Given the description of an element on the screen output the (x, y) to click on. 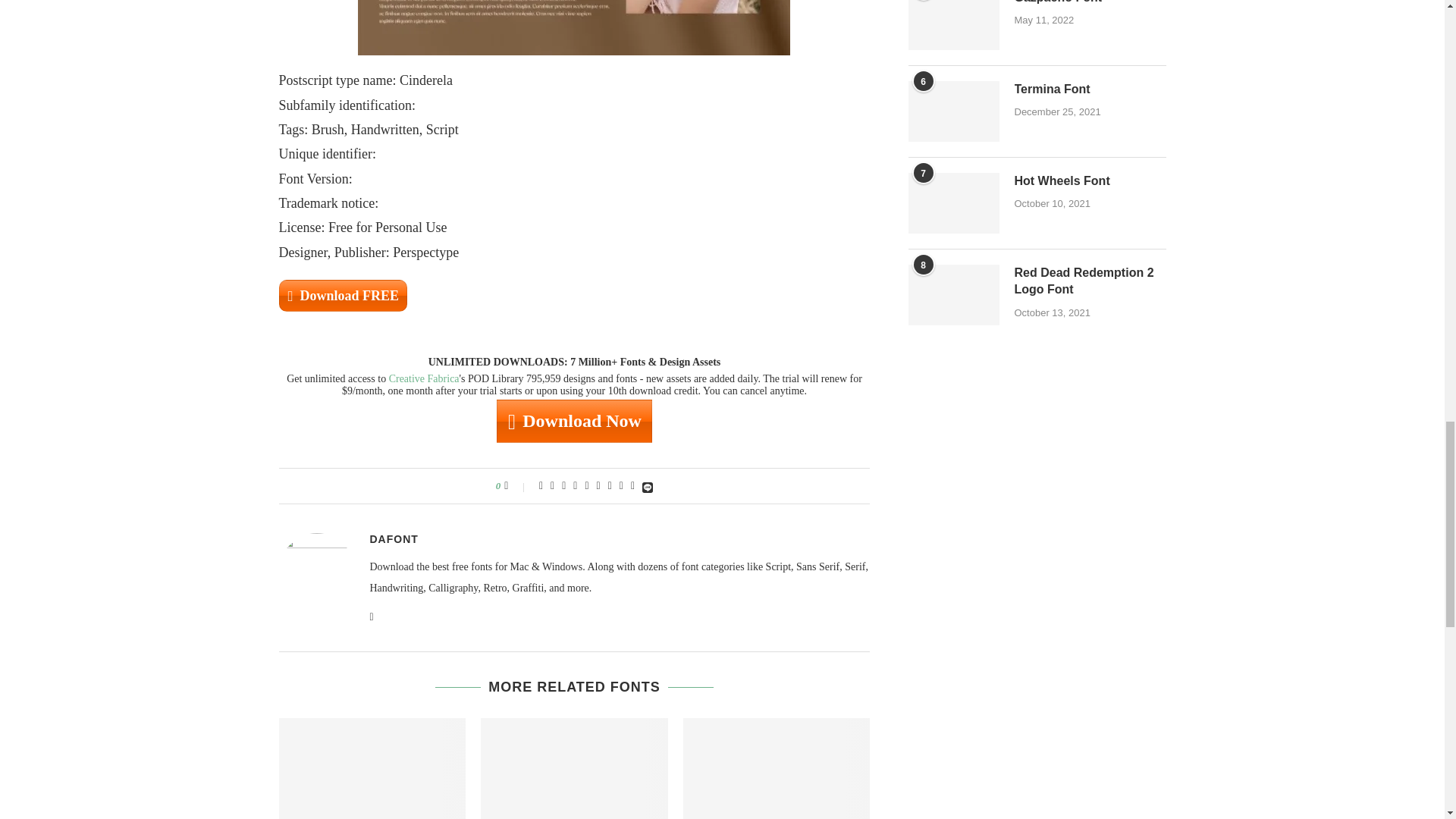
Cottage Font (776, 768)
Posts by Dafont (394, 539)
Chudleigh Font (574, 768)
Kaligraphy Font (372, 768)
Like (515, 485)
